Given the description of an element on the screen output the (x, y) to click on. 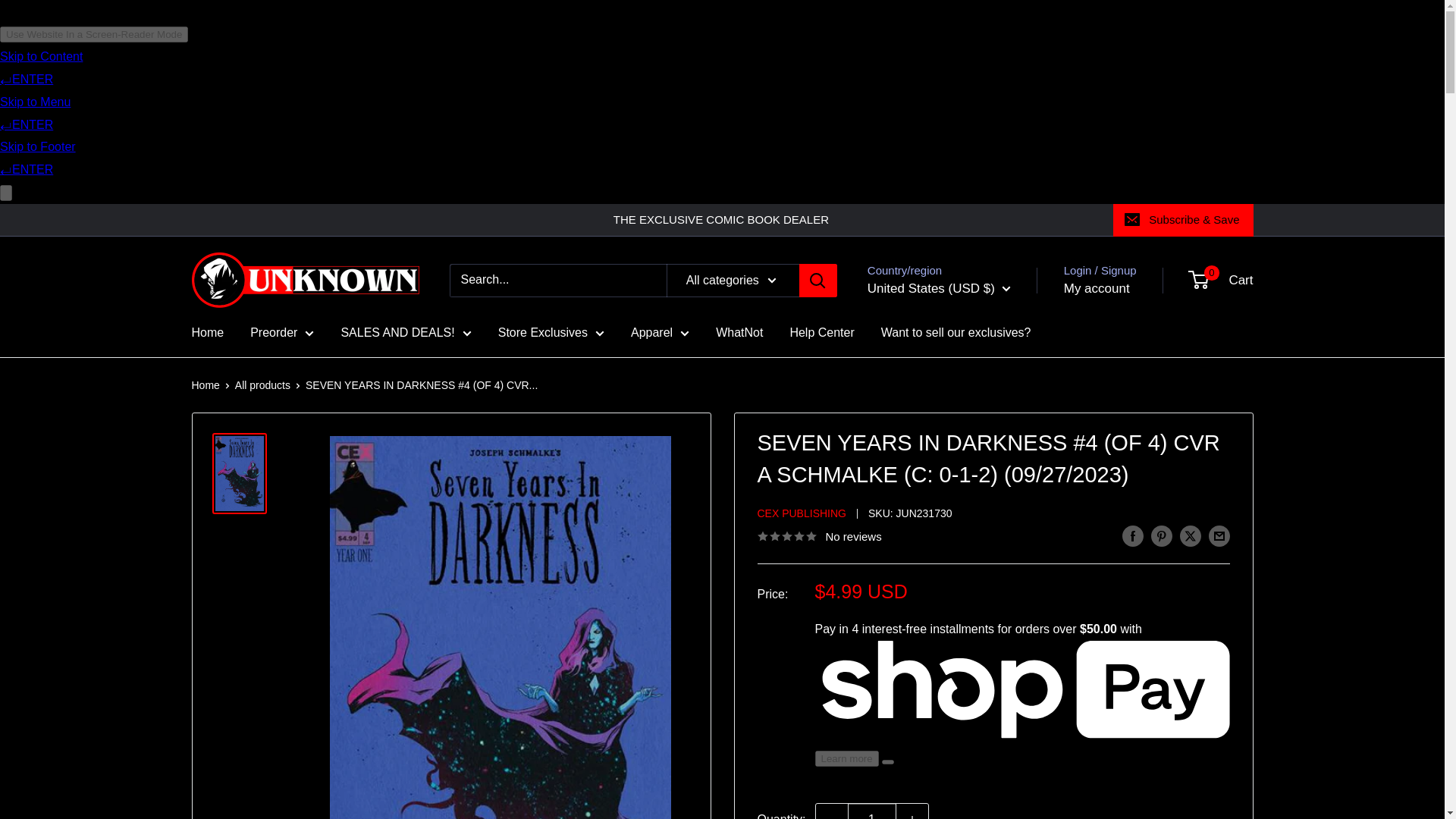
Increase quantity by 1 (912, 811)
1 (871, 811)
Decrease quantity by 1 (831, 811)
